Given the description of an element on the screen output the (x, y) to click on. 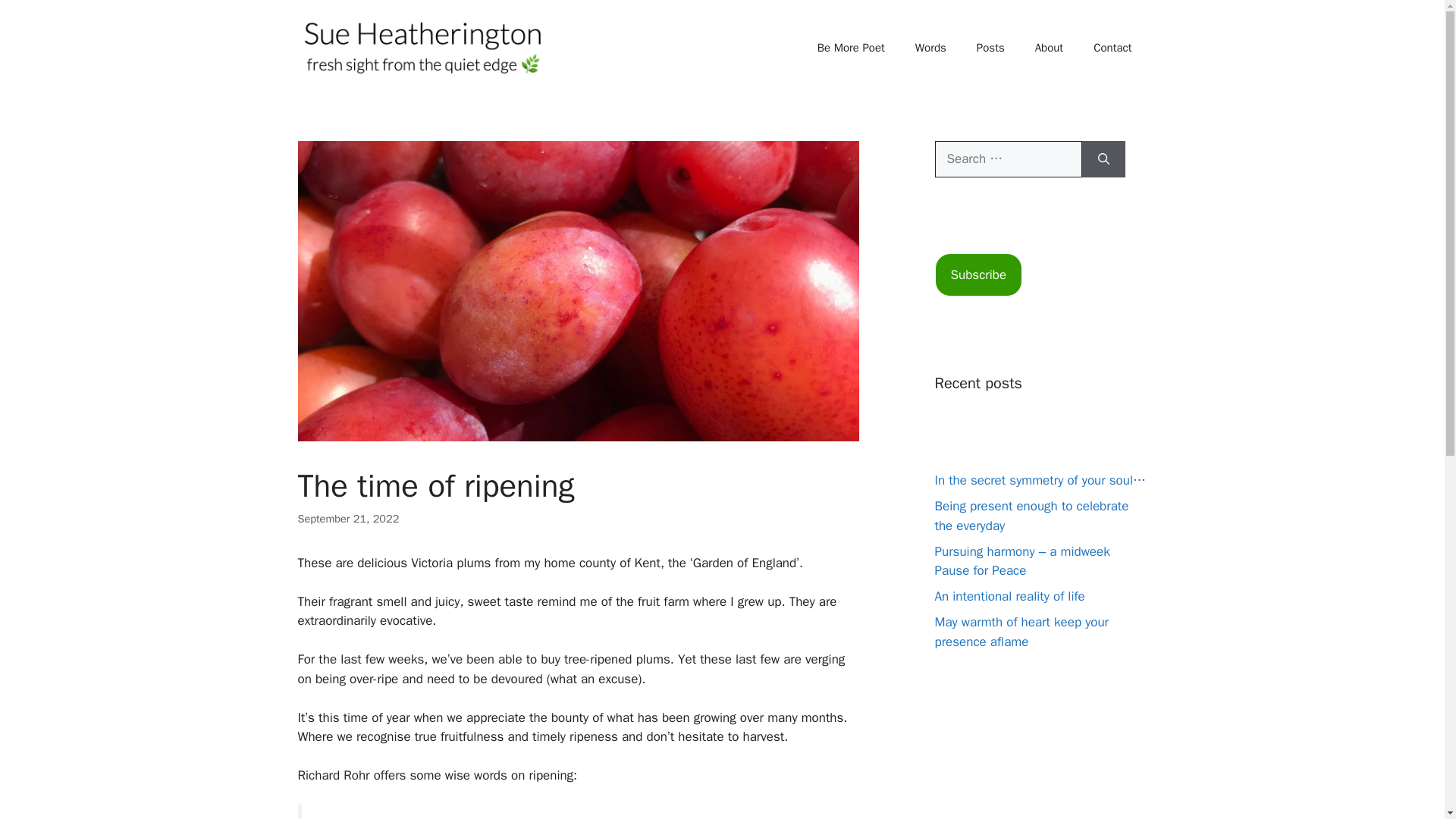
An intentional reality of life (1009, 596)
Search for: (1007, 158)
Being present enough to celebrate the everyday (1031, 515)
Words (929, 47)
Contact (1112, 47)
May warmth of heart keep your presence aflame (1021, 632)
Be More Poet (850, 47)
Posts (990, 47)
About (1049, 47)
Subscribe (978, 275)
